Given the description of an element on the screen output the (x, y) to click on. 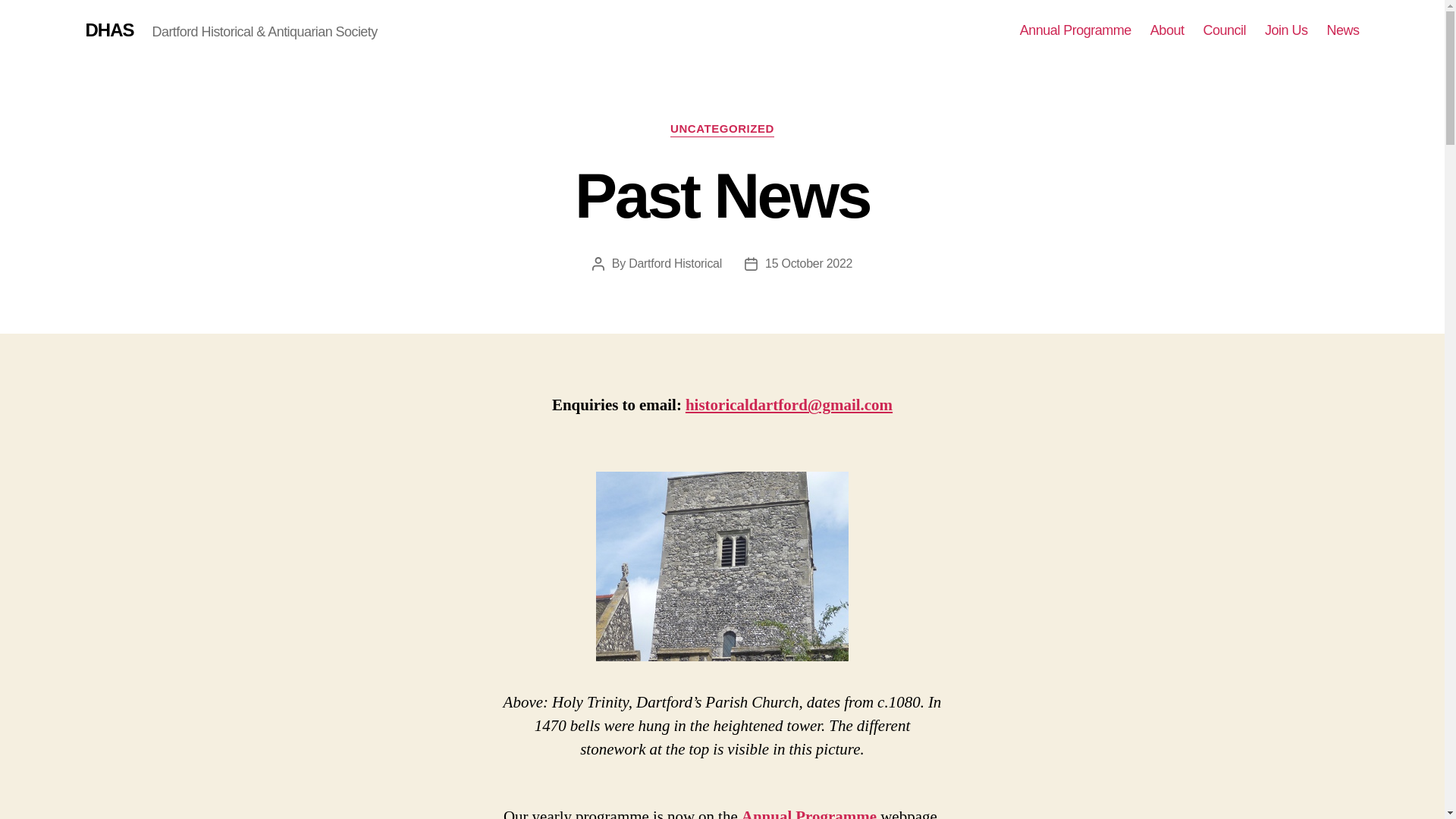
DHAS (108, 30)
Annual Programme (1075, 30)
Annual Programme (808, 812)
Council (1224, 30)
Dartford Historical (675, 263)
15 October 2022 (808, 263)
News (1342, 30)
Join Us (1286, 30)
UNCATEGORIZED (721, 129)
About (1167, 30)
